Given the description of an element on the screen output the (x, y) to click on. 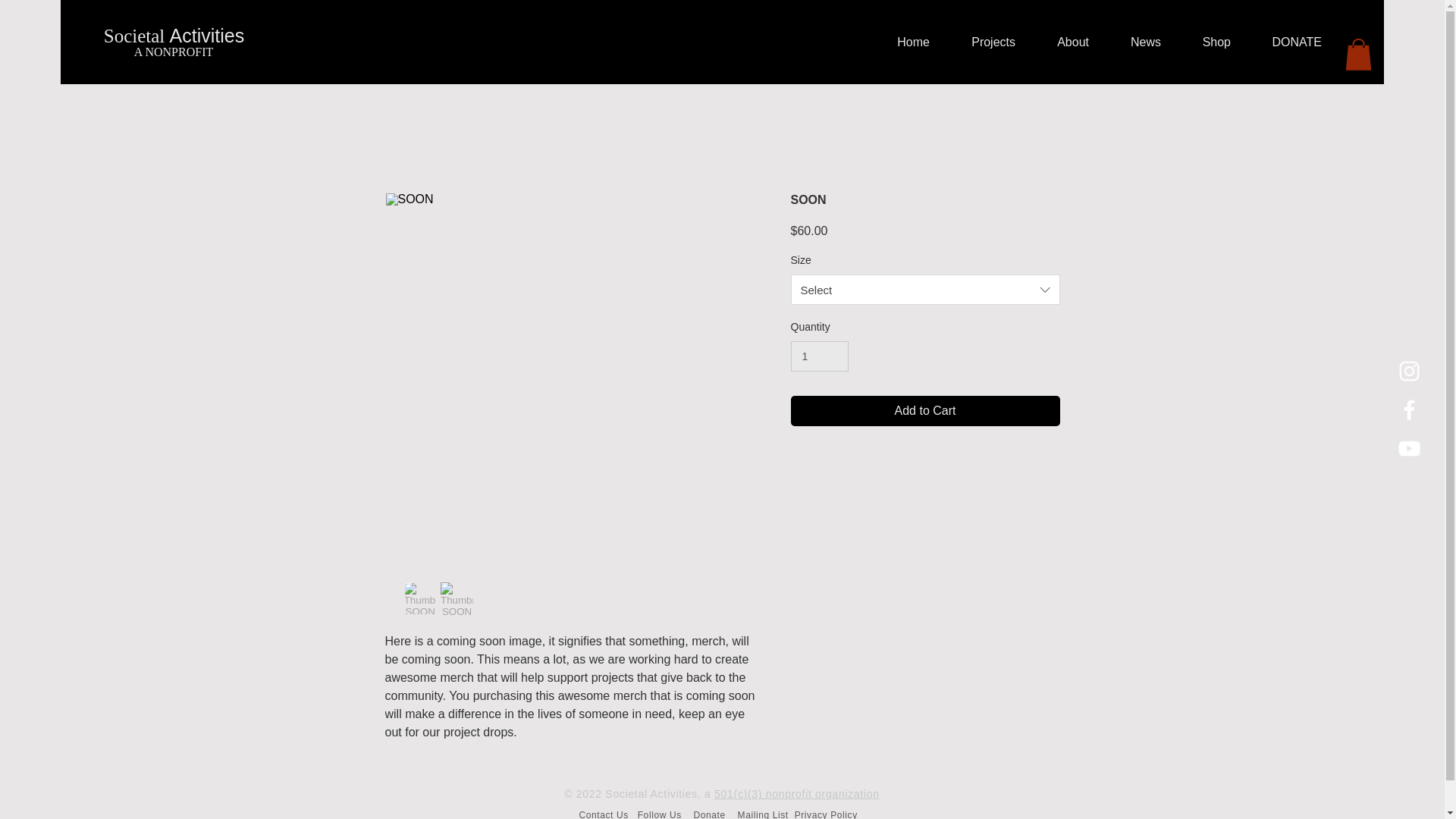
DONATE (1287, 42)
News (1136, 42)
Add to Cart (924, 410)
Select (924, 289)
1 (818, 356)
Activities (207, 35)
Shop (1206, 42)
Home (903, 42)
About (1063, 42)
Societal (136, 35)
Contact Us (603, 814)
Donate  (709, 814)
Projects (983, 42)
A NONPROFIT (172, 51)
Privacy Policy (825, 814)
